Given the description of an element on the screen output the (x, y) to click on. 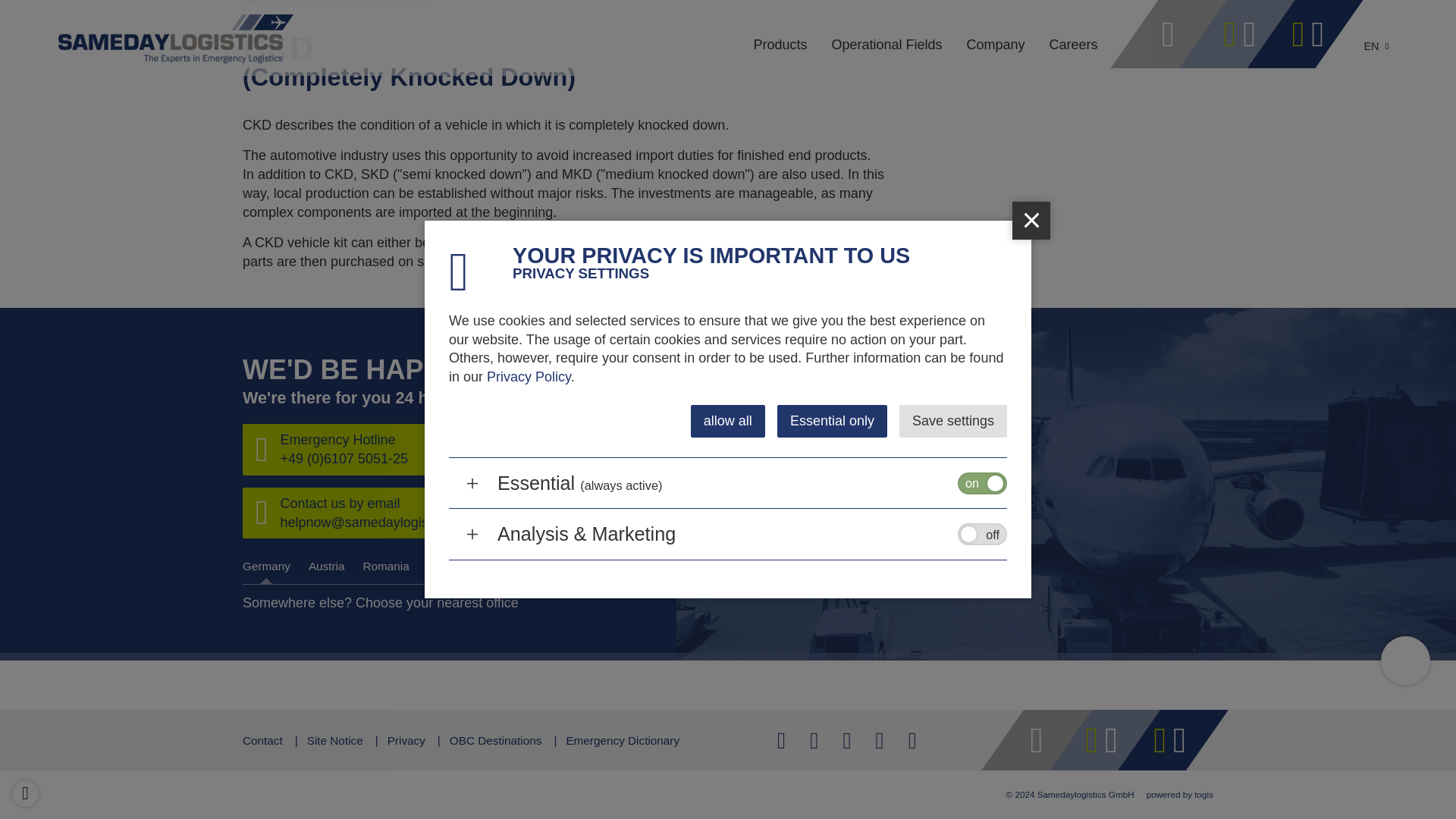
Emergency Dictionary (345, 2)
Home (264, 2)
Emergency Dictionary (345, 2)
Samedaylogistics (264, 2)
